Given the description of an element on the screen output the (x, y) to click on. 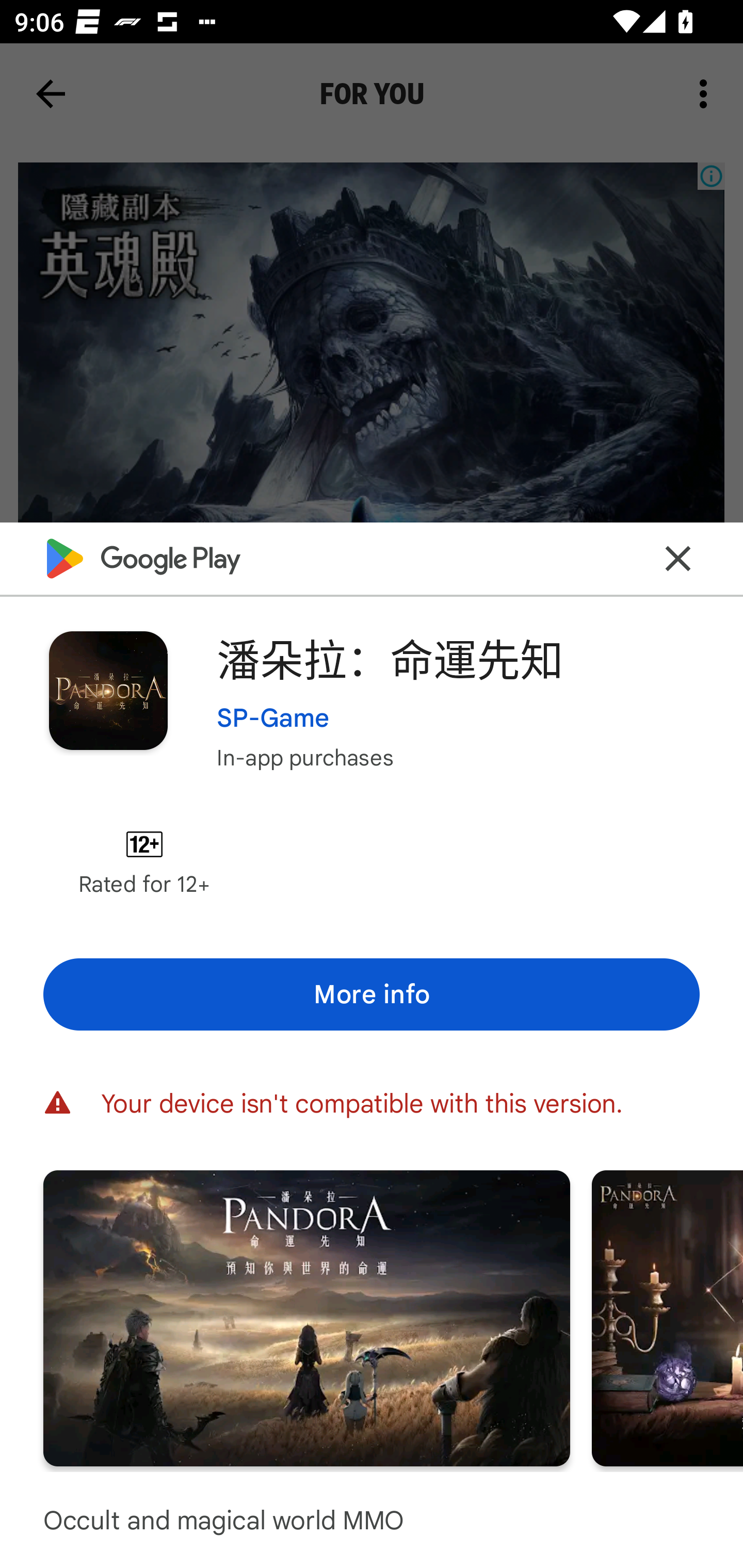
Close (677, 558)
Image of app or game icon for 潘朵拉：命運先知 (108, 690)
SP-Game (272, 716)
More info (371, 994)
Screenshot "1" of "6" (306, 1317)
